Given the description of an element on the screen output the (x, y) to click on. 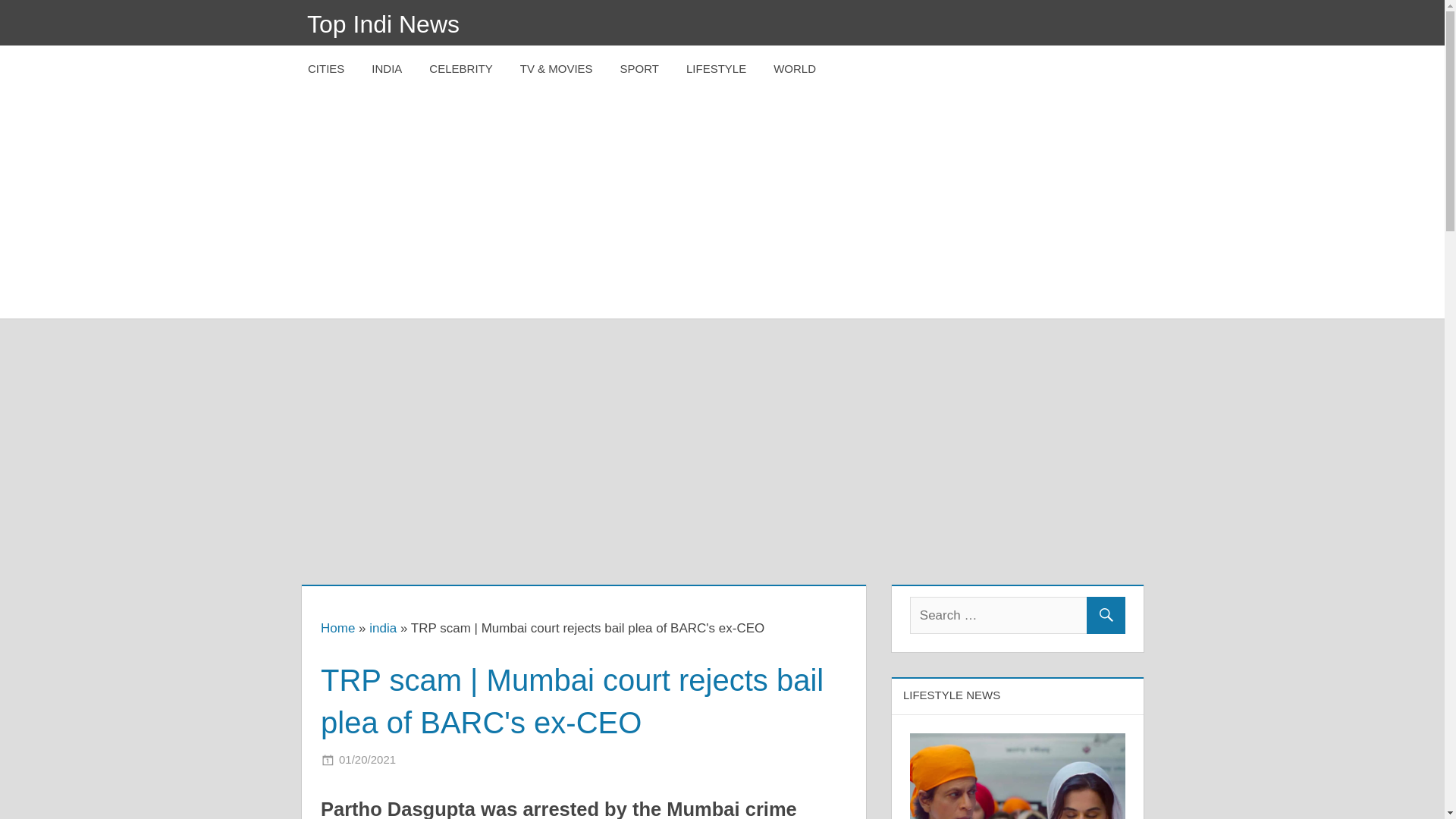
INDIA (386, 68)
LIFESTYLE (716, 68)
Dunki Drop 5: SRK to romance Taapsee in a brand new song (1017, 776)
CITIES (326, 68)
13:00 (367, 758)
WORLD (794, 68)
Top Indi News (383, 23)
CELEBRITY (459, 68)
Dunki Drop 5: SRK to romance Taapsee in a brand new song (1017, 743)
SPORT (639, 68)
Search for: (1017, 615)
india (382, 627)
Home (337, 627)
